Given the description of an element on the screen output the (x, y) to click on. 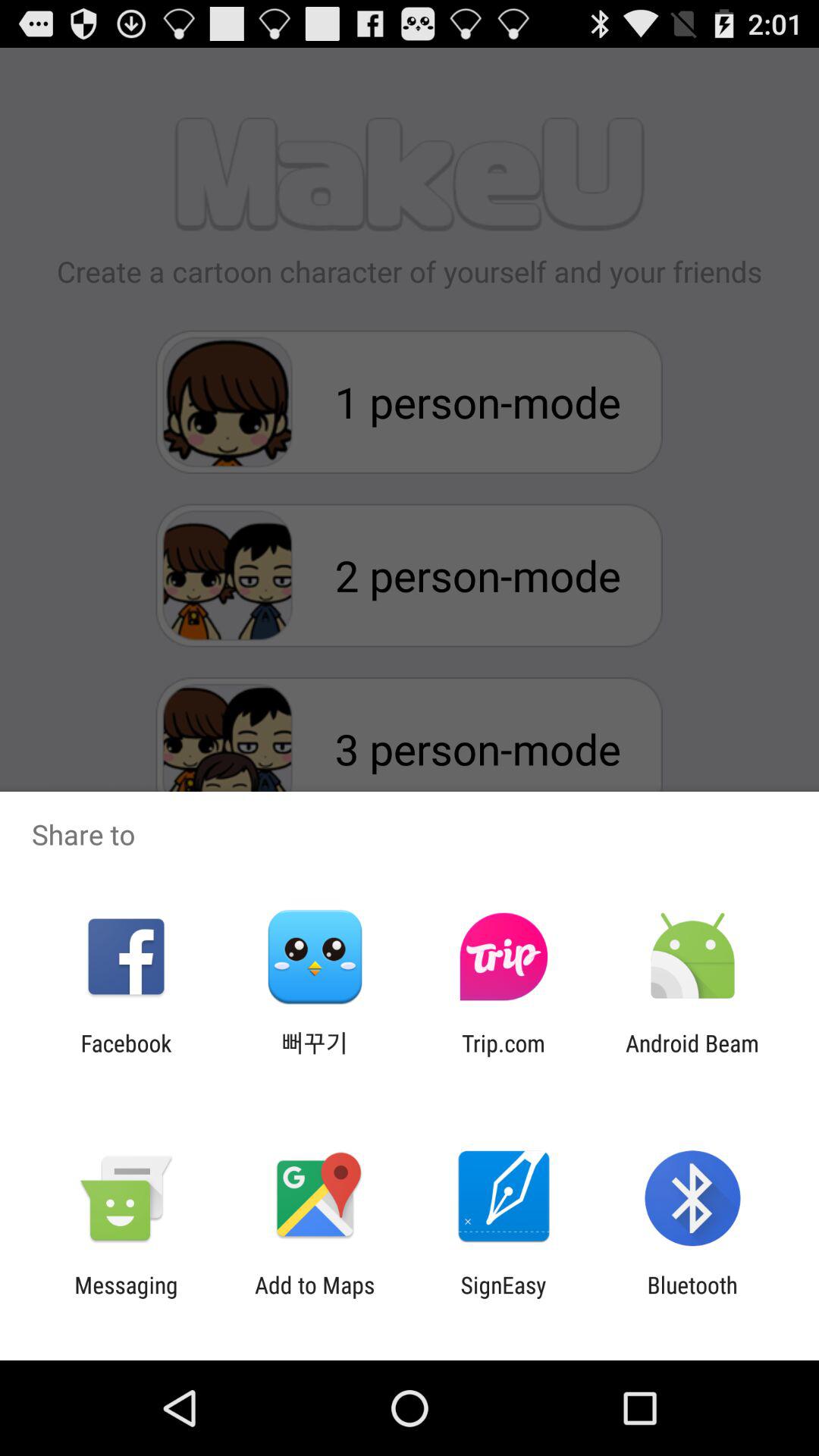
scroll to the trip.com app (503, 1056)
